Given the description of an element on the screen output the (x, y) to click on. 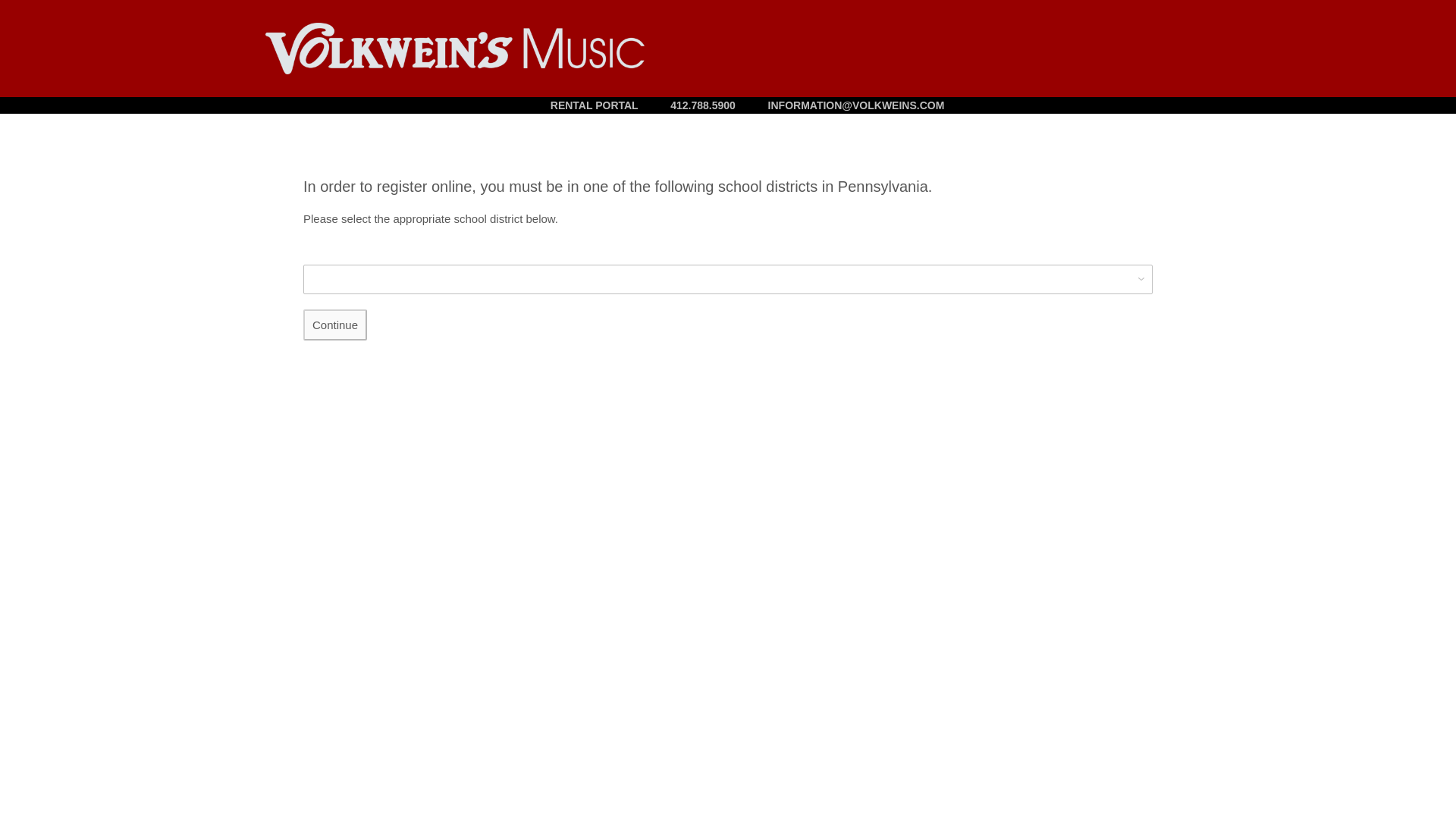
Continue (334, 324)
